Given the description of an element on the screen output the (x, y) to click on. 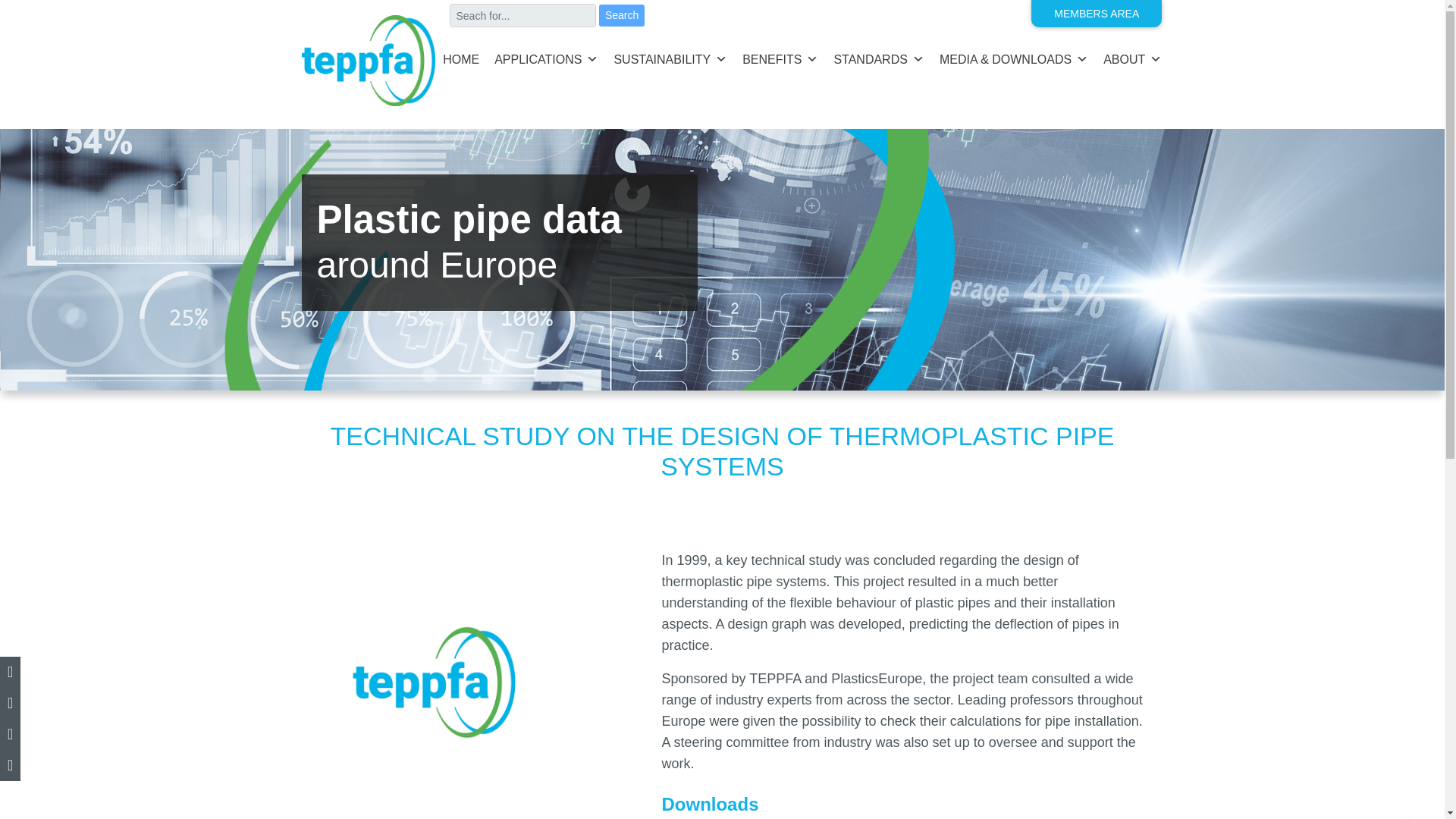
HOME (460, 64)
BENEFITS (780, 64)
MEMBERS AREA (1096, 13)
SUSTAINABILITY (670, 64)
Search (621, 15)
APPLICATIONS (545, 64)
Search (621, 15)
STANDARDS (878, 64)
Search (621, 15)
